Given the description of an element on the screen output the (x, y) to click on. 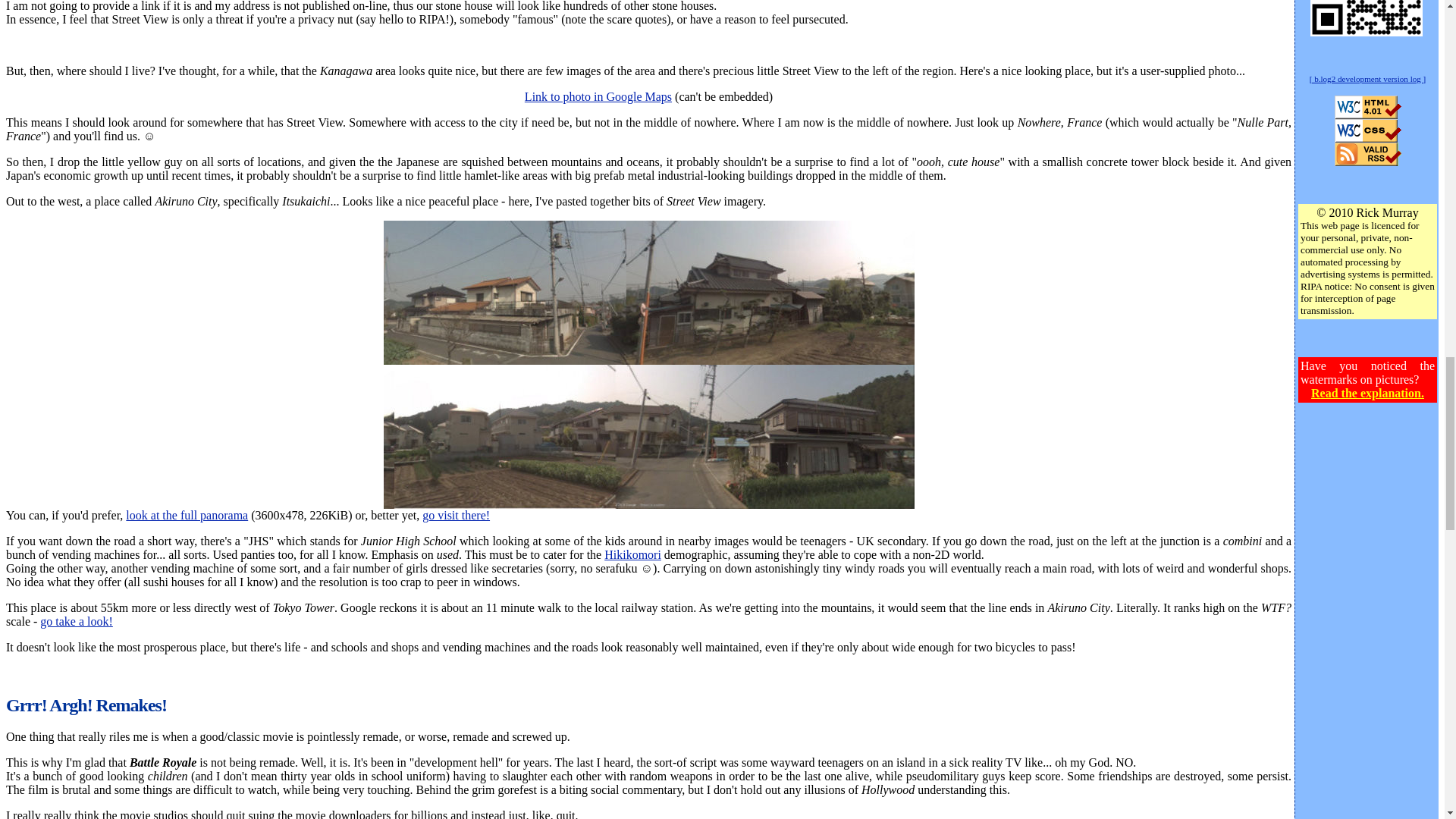
go take a look! (76, 621)
Link to photo in Google Maps (597, 96)
Nice looking area, left half (649, 292)
go visit there! (455, 514)
look at the full panorama (186, 514)
Nice looking area, right half (649, 436)
Hikikomori (632, 554)
